Given the description of an element on the screen output the (x, y) to click on. 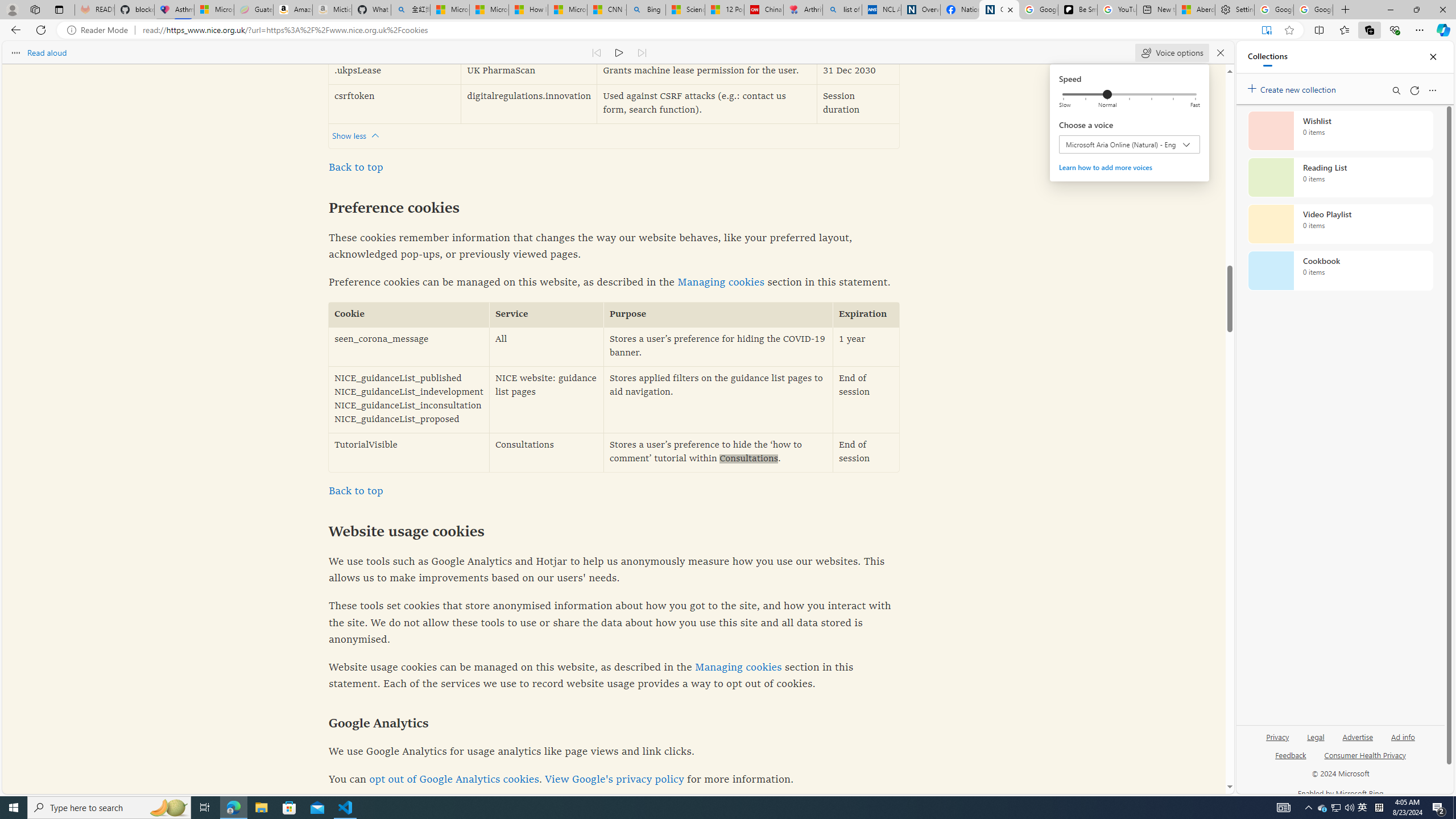
opt out of Google Analytics cookies (453, 779)
12 Popular Science Lies that Must be Corrected (724, 9)
Bing (646, 9)
Advertise (1357, 736)
.ukpsLease (394, 71)
Close read aloud (1219, 52)
list of asthma inhalers uk - Search (842, 9)
Reader Mode (100, 29)
NICE website: guidance list pages (546, 399)
Consumer Health Privacy (1364, 759)
